Given the description of an element on the screen output the (x, y) to click on. 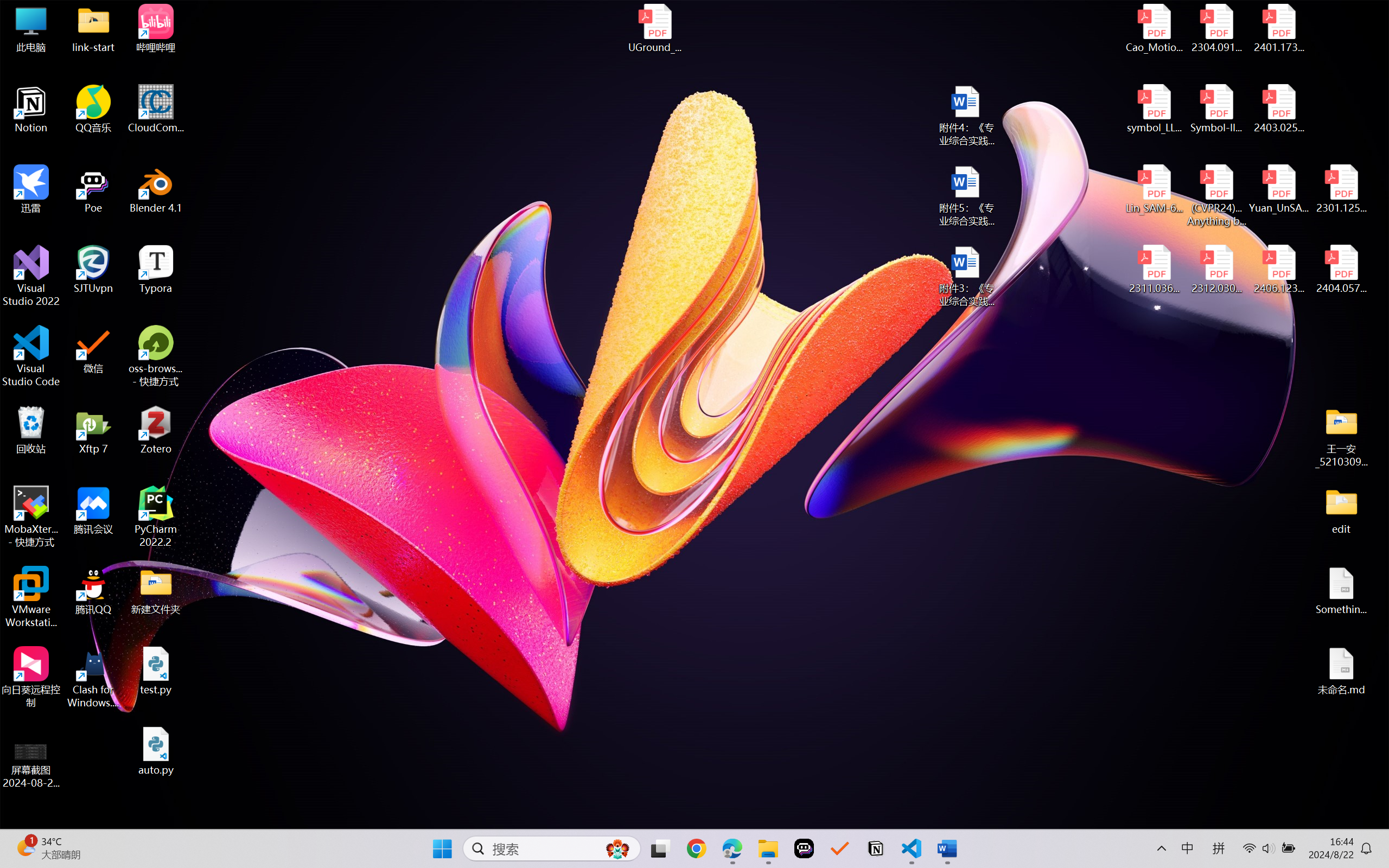
2304.09121v3.pdf (1216, 28)
Typora (156, 269)
Visual Studio Code (31, 355)
test.py (156, 670)
2312.03032v2.pdf (1216, 269)
2311.03658v2.pdf (1154, 269)
Something.md (1340, 591)
